Given the description of an element on the screen output the (x, y) to click on. 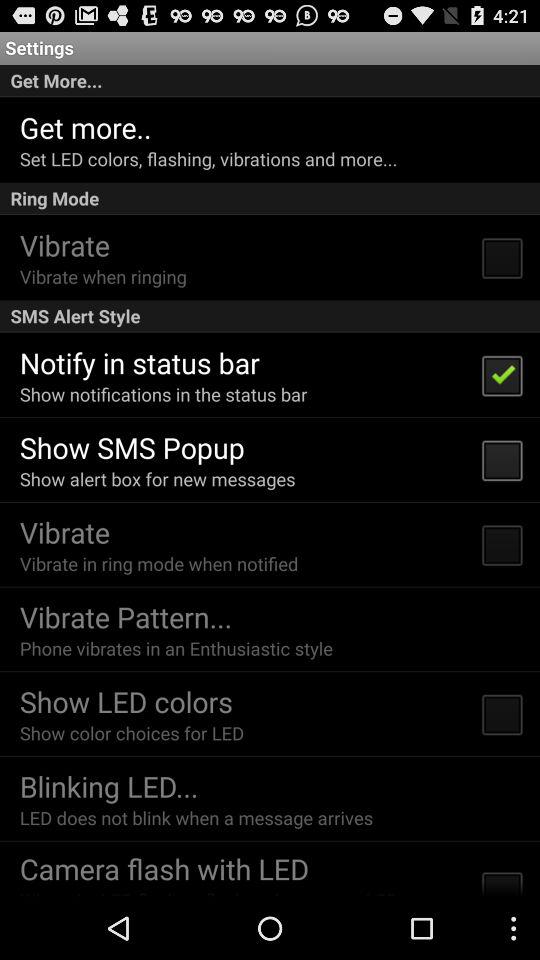
turn on the sms alert style icon (270, 316)
